Given the description of an element on the screen output the (x, y) to click on. 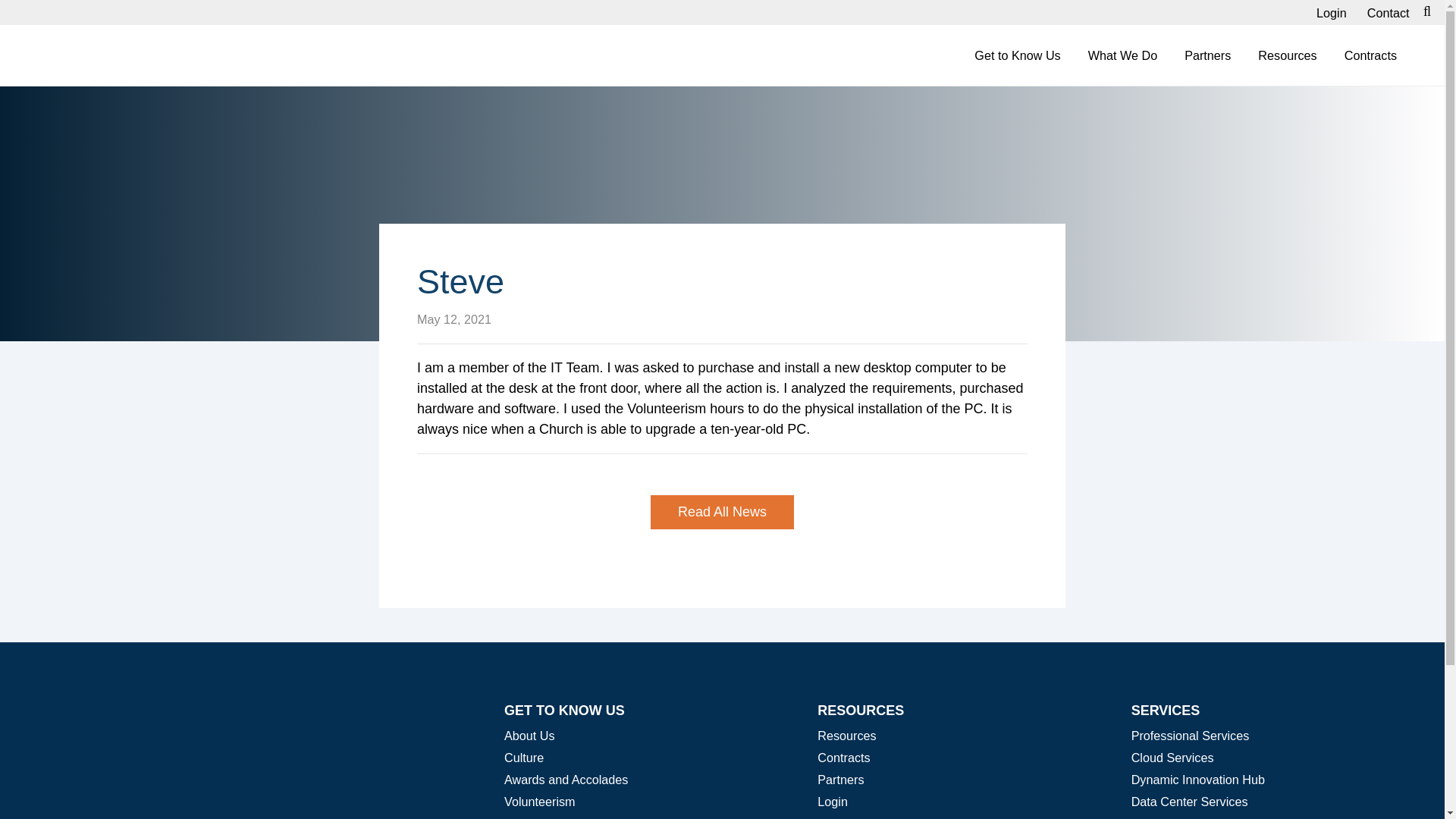
Login (1331, 12)
Dynamic Systems (139, 56)
Search (1166, 28)
Get to Know Us (1017, 55)
What We Do (1122, 55)
Contact (1387, 12)
Search (1166, 28)
